Given the description of an element on the screen output the (x, y) to click on. 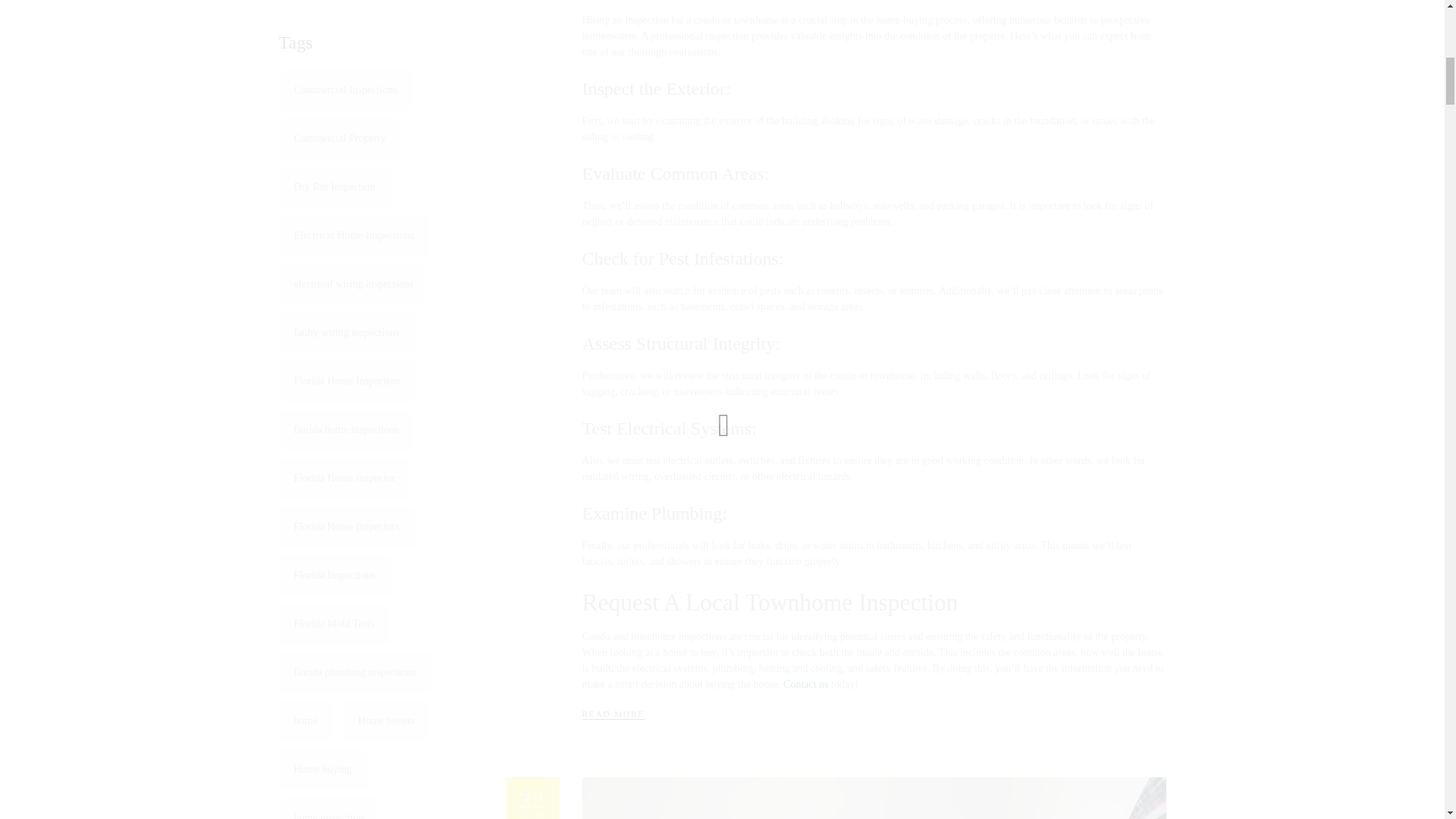
Contact us (532, 798)
READ MORE (805, 684)
